Given the description of an element on the screen output the (x, y) to click on. 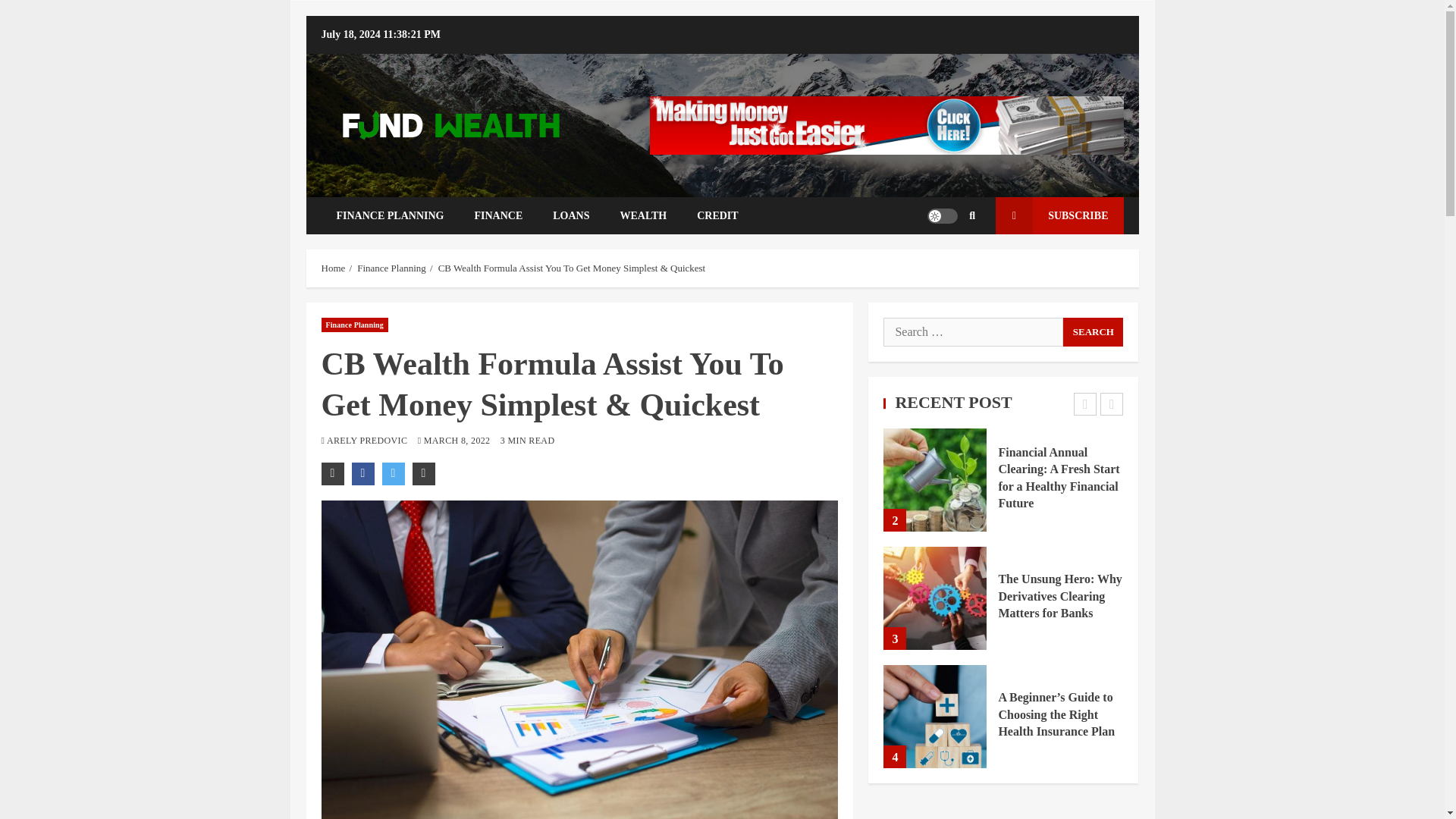
Finance Planning (354, 324)
Home (333, 267)
Search (1092, 331)
Search (1092, 331)
FINANCE PLANNING (390, 215)
Search (1092, 331)
Search (948, 261)
Finance Planning (391, 267)
WEALTH (642, 215)
CREDIT (716, 215)
ARELY PREDOVIC (368, 439)
FINANCE (497, 215)
Search (972, 215)
SUBSCRIBE (1058, 215)
